Given the description of an element on the screen output the (x, y) to click on. 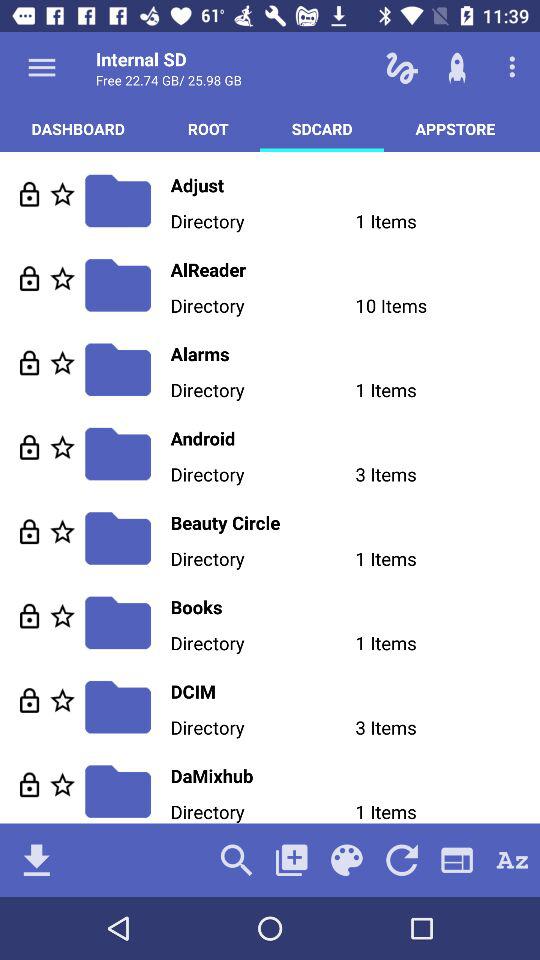
go to lock (29, 615)
